Given the description of an element on the screen output the (x, y) to click on. 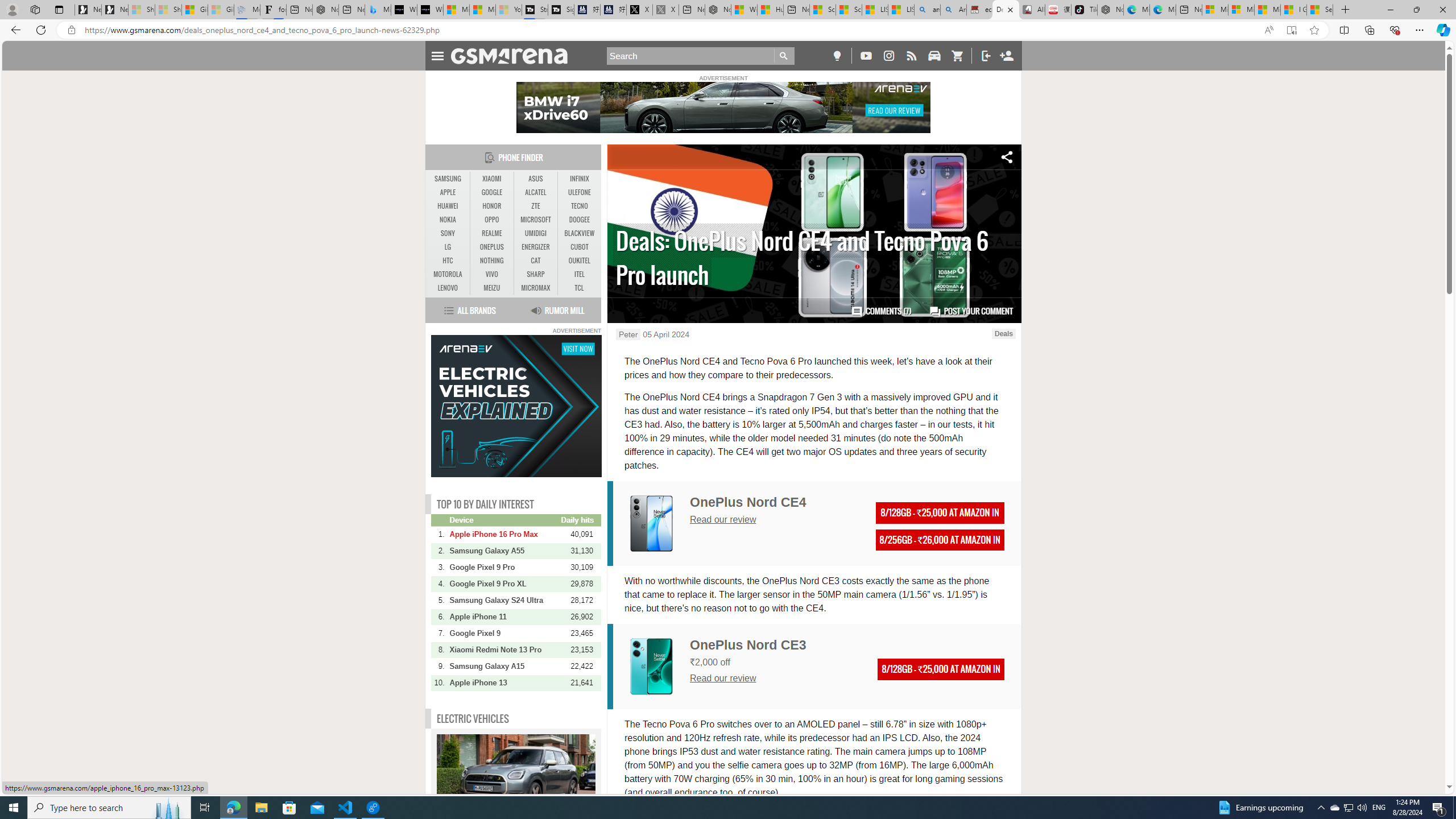
MOTOROLA (448, 273)
VIVO (491, 273)
To get missing image descriptions, open the context menu. (515, 406)
ALCATEL (535, 192)
DOOGEE (579, 219)
TECNO (579, 206)
LG (448, 246)
TCL (578, 287)
